Given the description of an element on the screen output the (x, y) to click on. 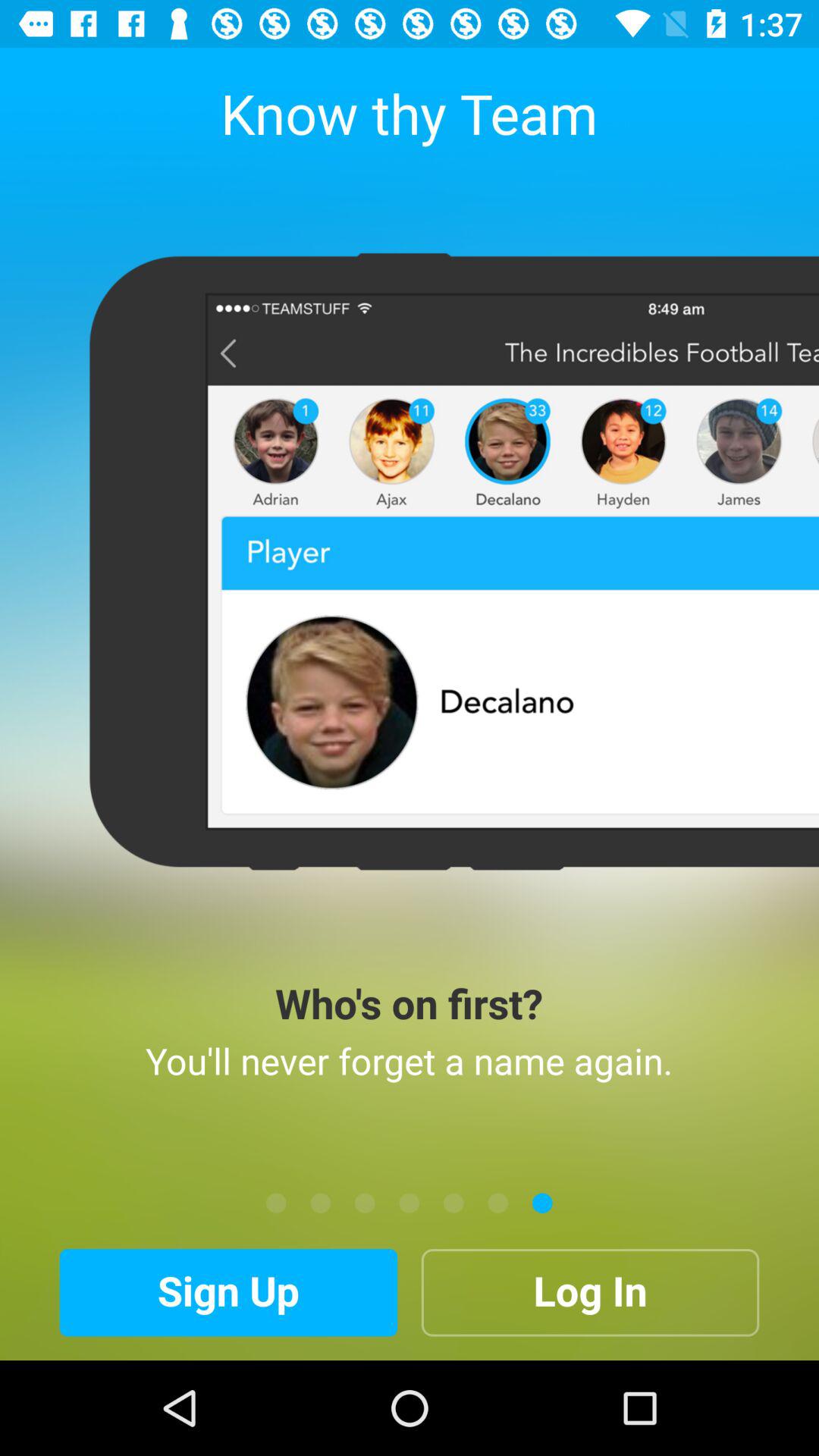
how many taks have been completed (453, 1203)
